Given the description of an element on the screen output the (x, y) to click on. 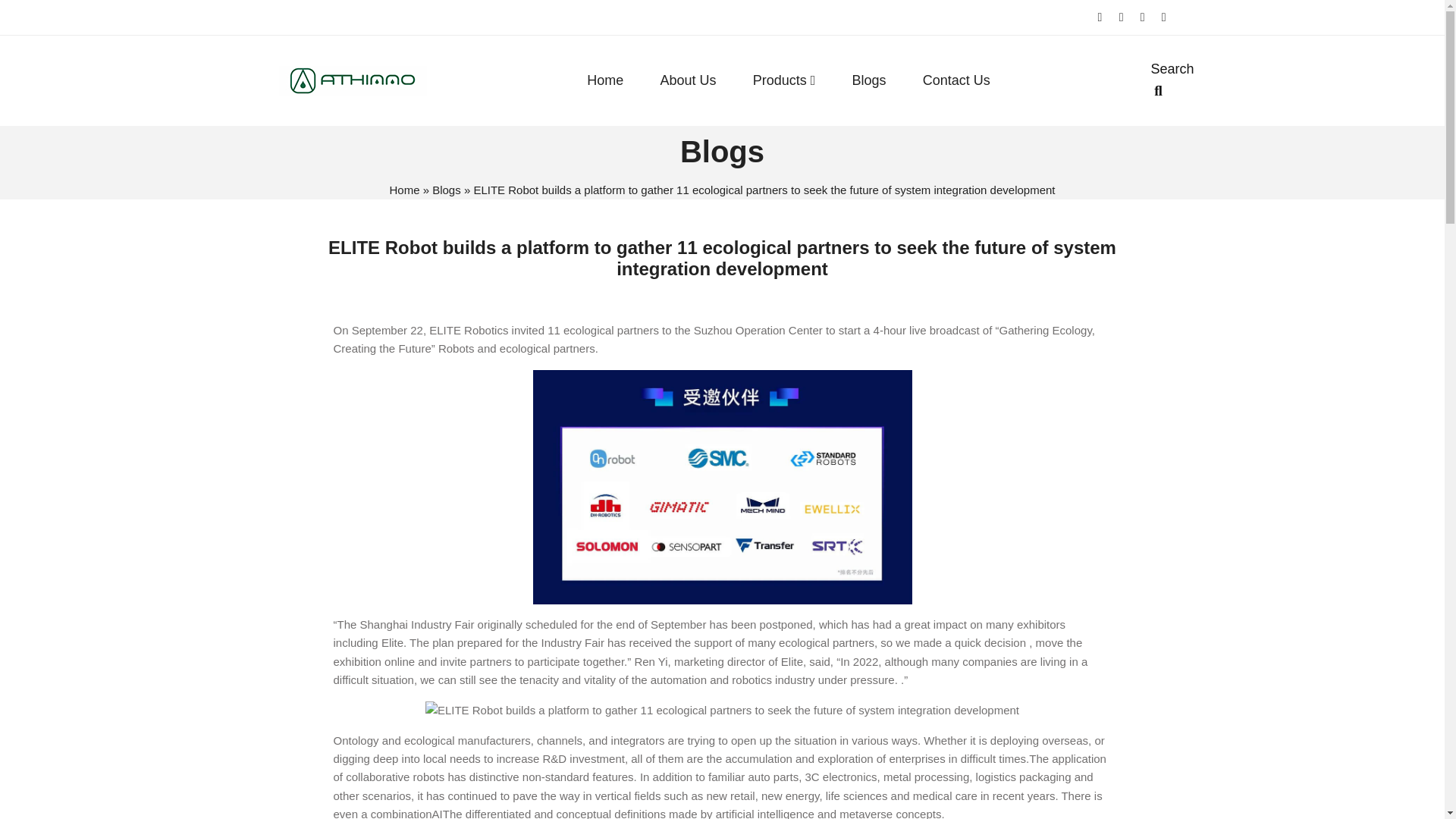
AI (437, 813)
Home (403, 189)
Facebook (1099, 16)
About Us (687, 80)
artificial intelligence (764, 813)
Blogs (868, 80)
Youtube (1142, 16)
automation (678, 679)
Contact Us (956, 80)
Robots (456, 348)
Search (1158, 80)
Pinterest (1163, 16)
artificial intelligence (764, 813)
Linkedin (1121, 16)
Products (784, 80)
